Given the description of an element on the screen output the (x, y) to click on. 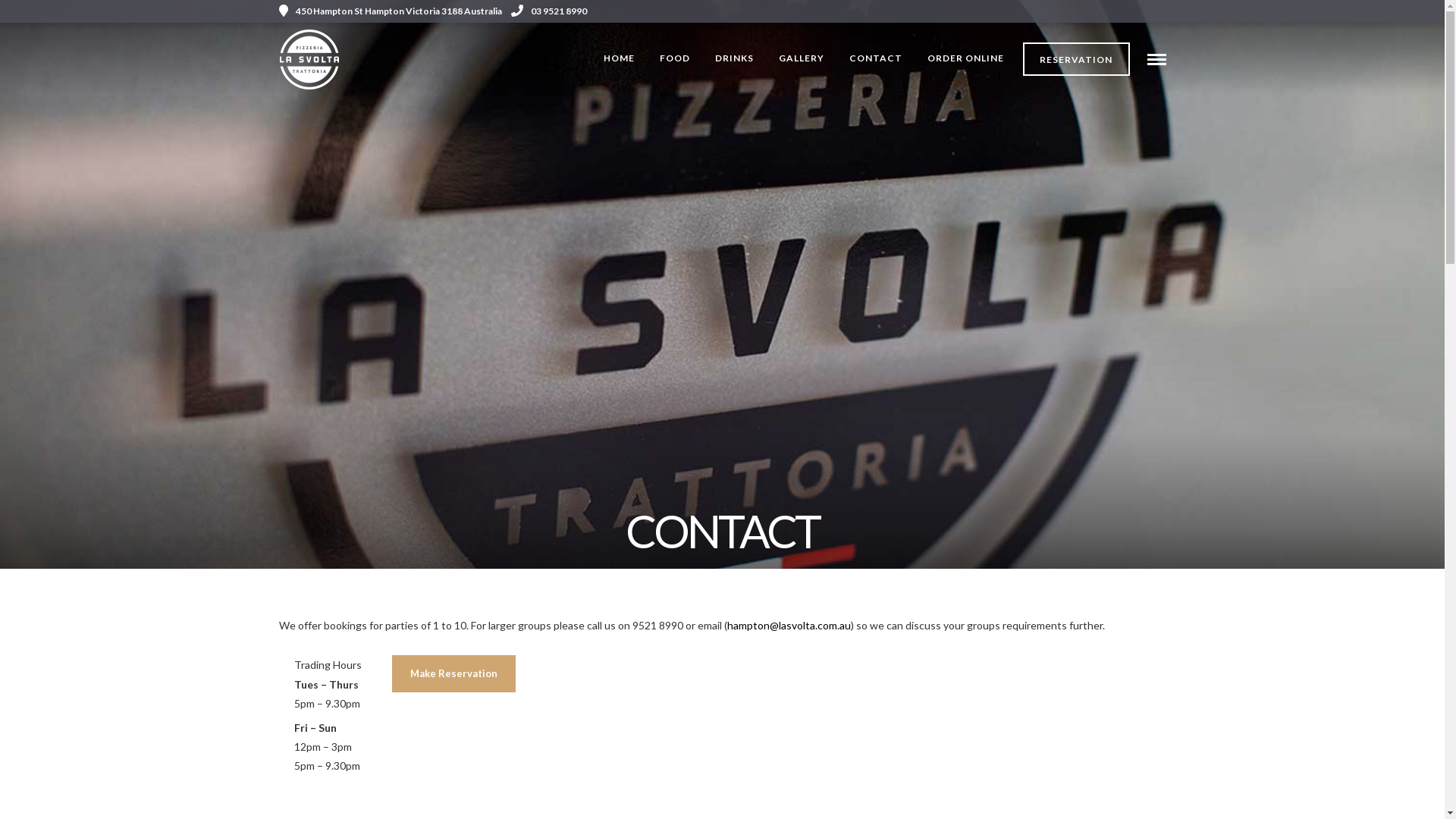
RESERVATION Element type: text (1075, 59)
03 9521 8990 Element type: text (548, 10)
CONTACT Element type: text (875, 58)
hampton@lasvolta.com.au Element type: text (788, 624)
GALLERY Element type: text (801, 58)
HOME Element type: text (619, 58)
FOOD Element type: text (674, 58)
DRINKS Element type: text (734, 58)
ORDER ONLINE Element type: text (965, 58)
Make Reservation Element type: text (452, 673)
